Given the description of an element on the screen output the (x, y) to click on. 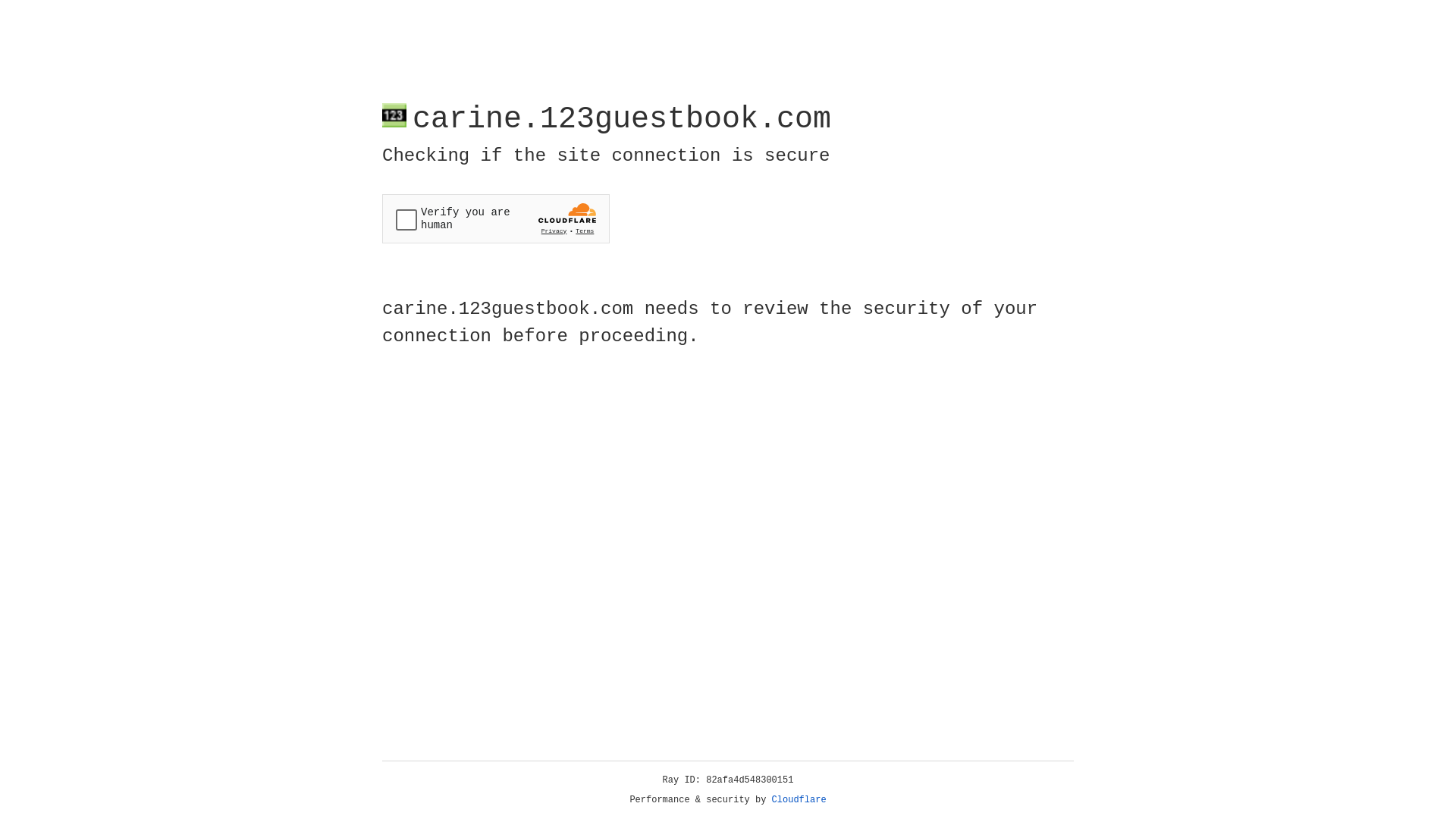
Cloudflare Element type: text (798, 799)
Widget containing a Cloudflare security challenge Element type: hover (495, 218)
